Given the description of an element on the screen output the (x, y) to click on. 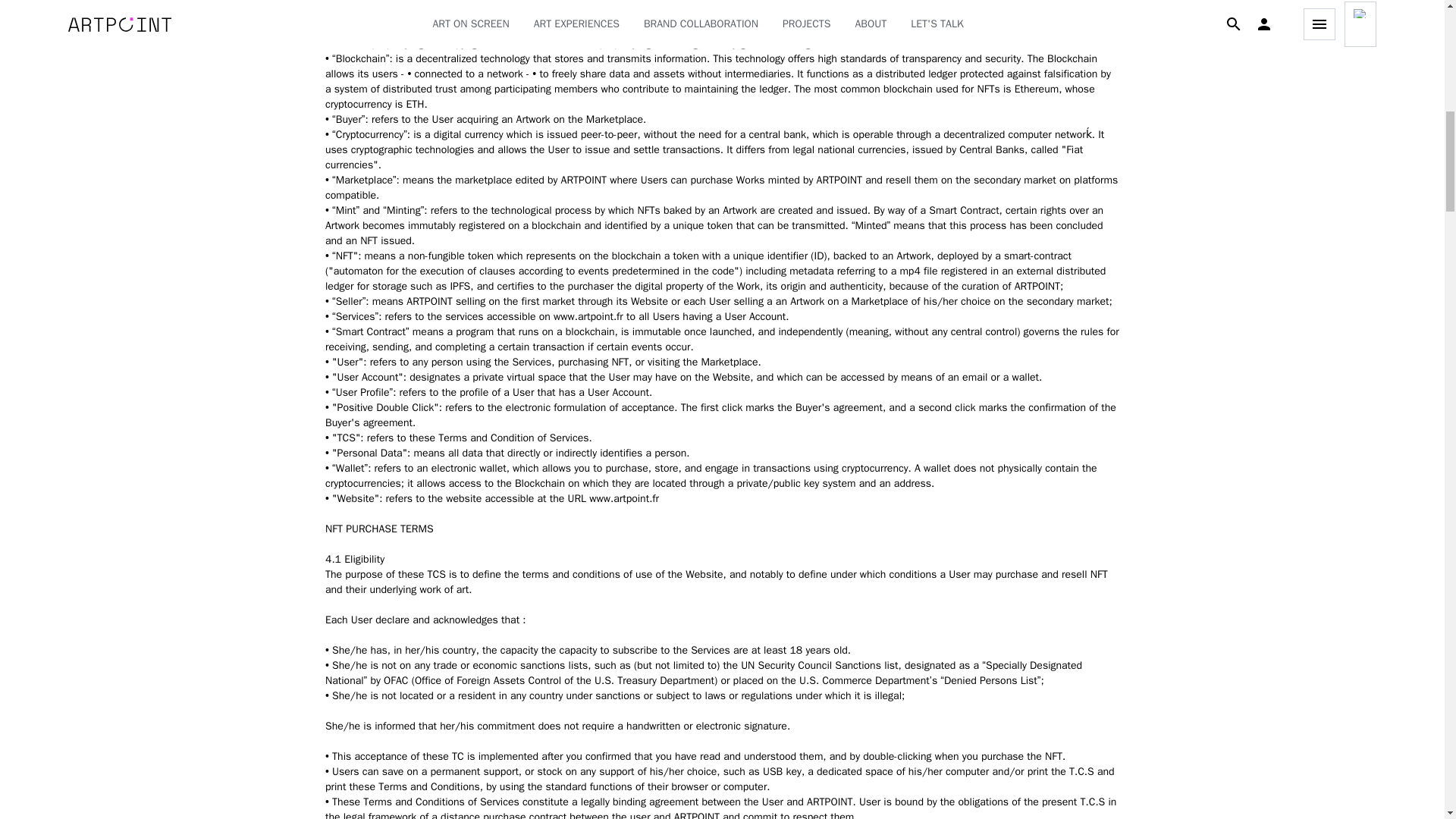
www.artpoint.fr (624, 498)
www.artpoint.fr (588, 316)
